Given the description of an element on the screen output the (x, y) to click on. 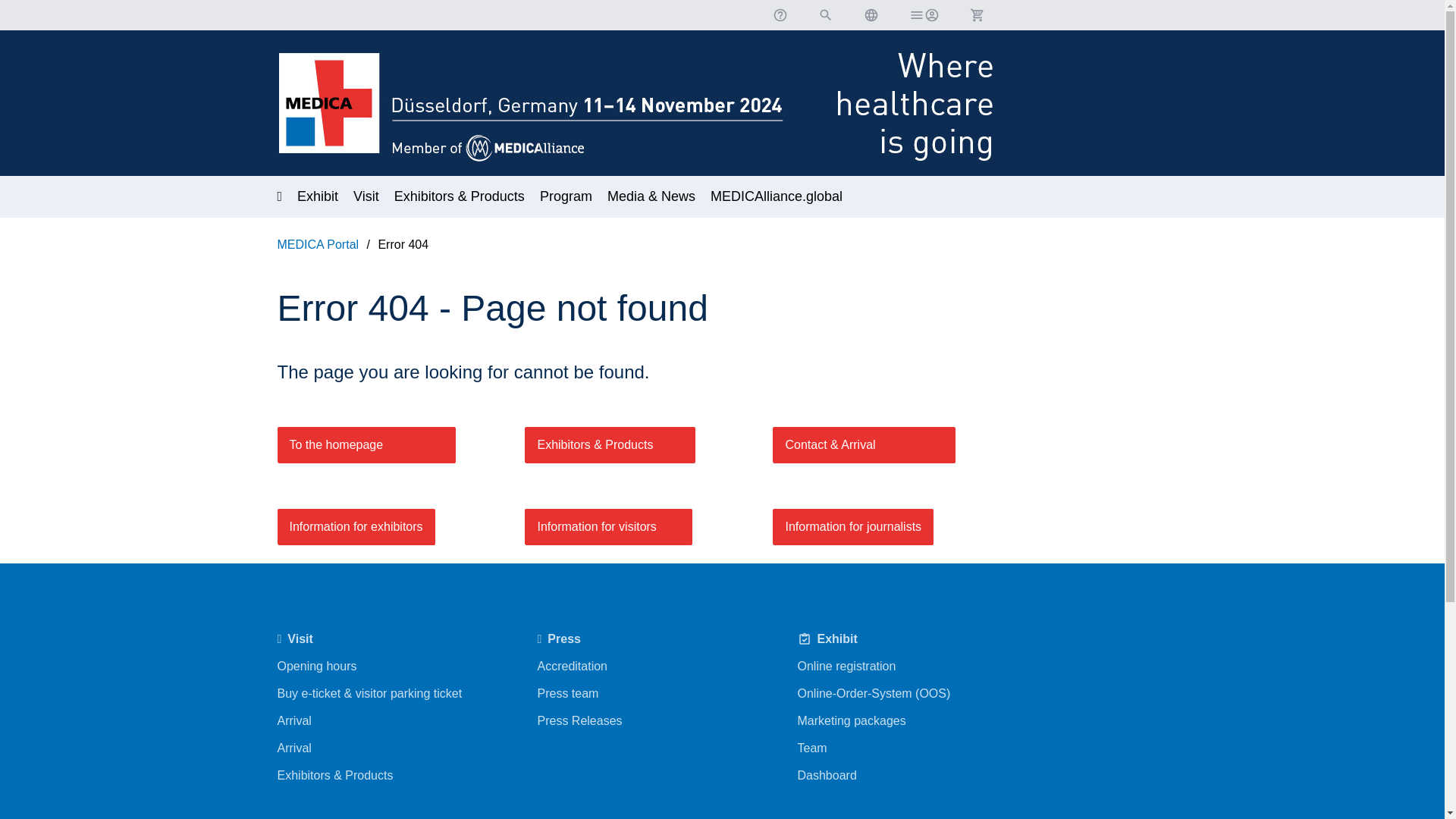
English (870, 14)
Login (923, 14)
Ticket shop (975, 14)
Search (824, 14)
Support (779, 14)
